Given the description of an element on the screen output the (x, y) to click on. 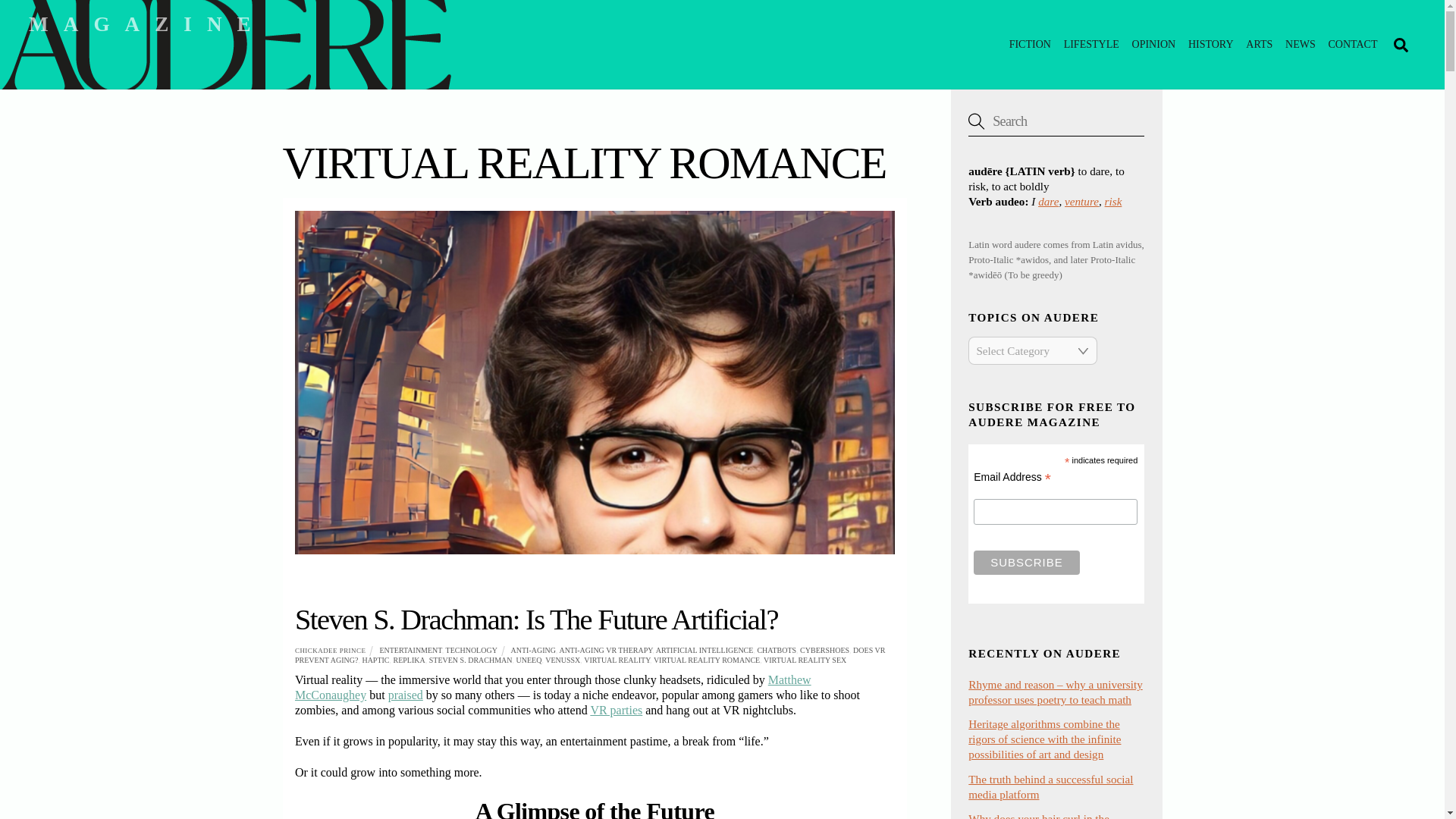
Magazine (147, 24)
VIRTUAL REALITY SEX (803, 660)
LIFESTYLE (1091, 43)
FICTION (1030, 43)
Steven S. Drachman: Is The Future Artificial? (536, 619)
VR parties (615, 709)
CYBERSHOES (823, 650)
Subscribe (1026, 562)
CHATBOTS (776, 650)
STEVEN S. DRACHMAN (470, 660)
ANTI-AGING VR THERAPY (605, 650)
ENTERTAINMENT (409, 650)
ARTIFICIAL INTELLIGENCE (705, 650)
UNEEQ (528, 660)
Matthew McConaughey (552, 687)
